Given the description of an element on the screen output the (x, y) to click on. 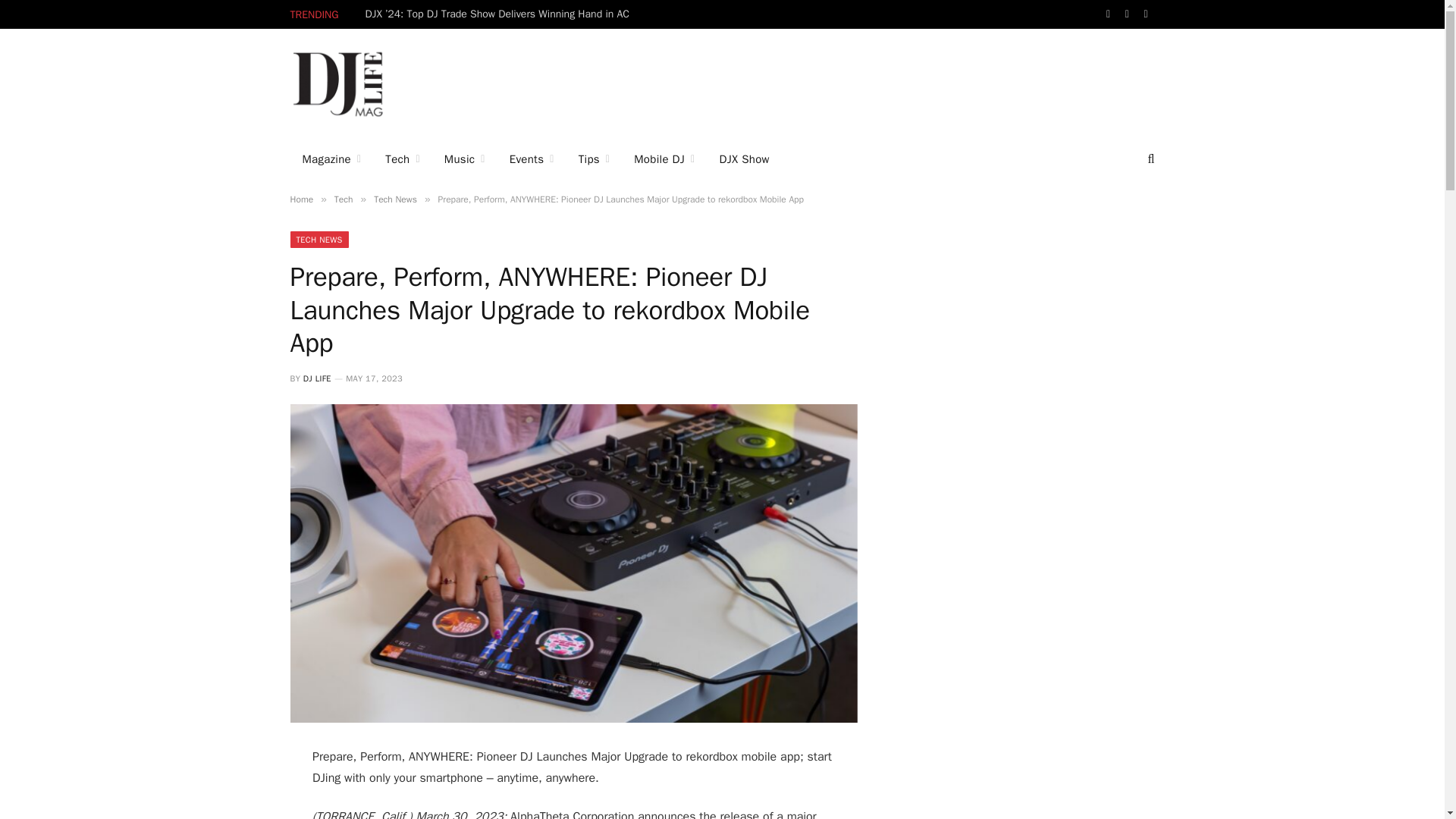
Tech (402, 159)
Magazine (330, 159)
3rd party ad content (774, 83)
